Given the description of an element on the screen output the (x, y) to click on. 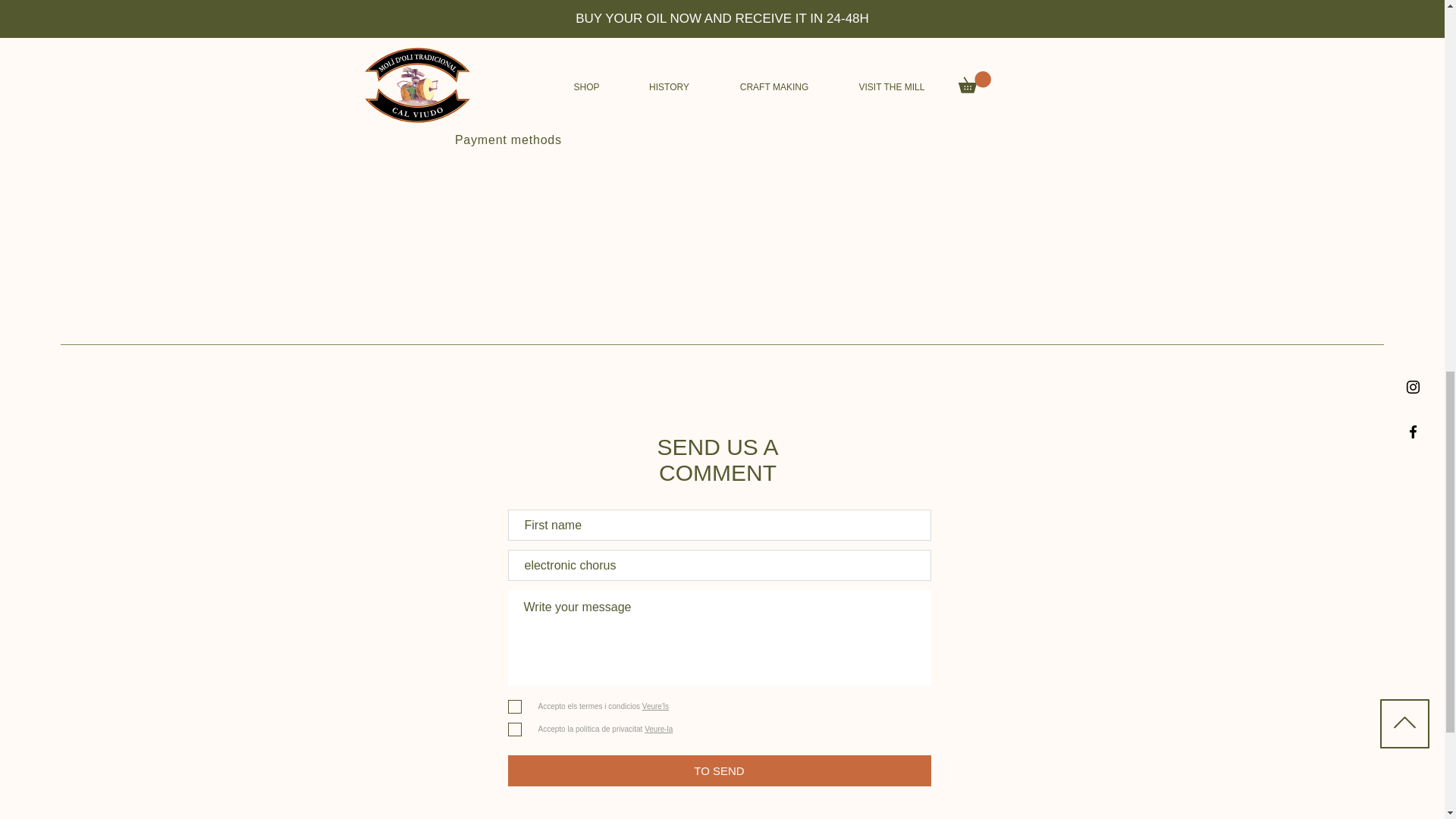
CRAFT MAKING (167, 94)
TO SEND (719, 770)
Payment methods (508, 139)
Sales policy (490, 115)
Veure-la (657, 728)
FAQ's (472, 66)
SHOP (167, 39)
HISTORY (167, 67)
Veure'ls (654, 705)
VISIT THE MILL (167, 122)
